Given the description of an element on the screen output the (x, y) to click on. 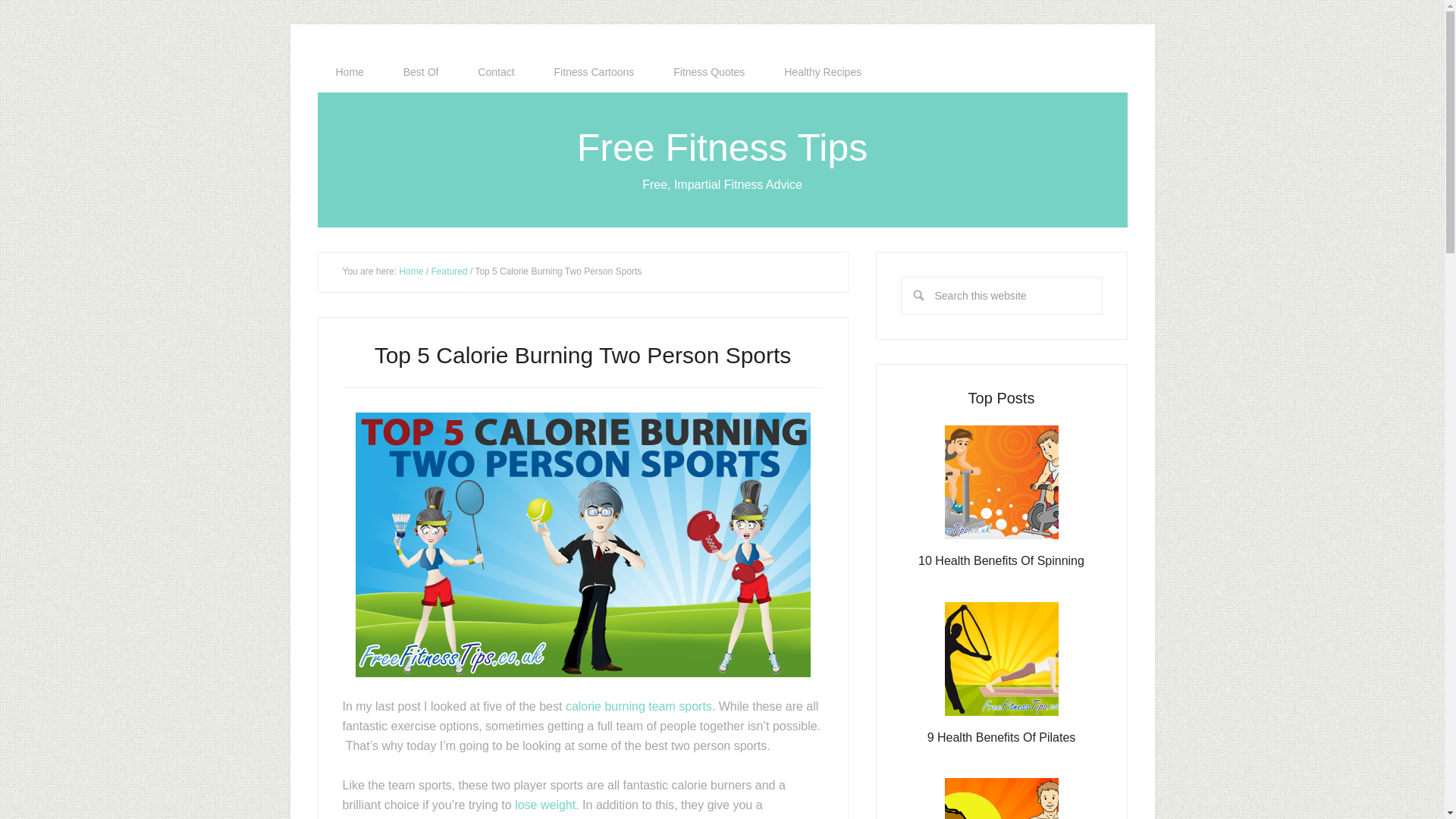
Healthy Recipes (822, 71)
calorie burning team sports (638, 705)
Contact (496, 71)
cardio workout (411, 818)
Home (349, 71)
lose weight (545, 803)
Fitness Quotes (708, 71)
Fitness Cartoons (593, 71)
Best Of (421, 71)
